Given the description of an element on the screen output the (x, y) to click on. 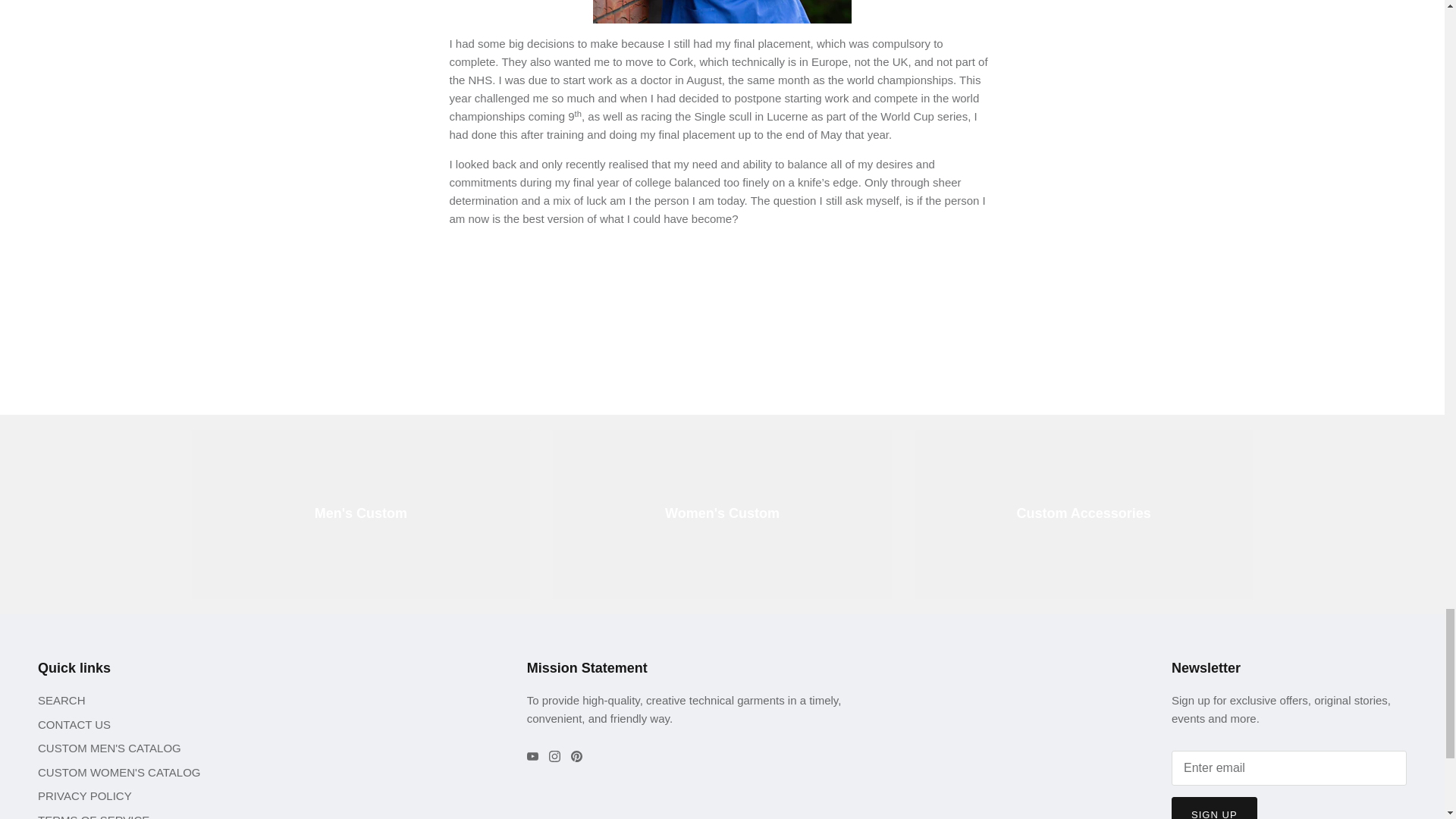
Pinterest (576, 756)
Instagram (554, 756)
Youtube (532, 756)
